Given the description of an element on the screen output the (x, y) to click on. 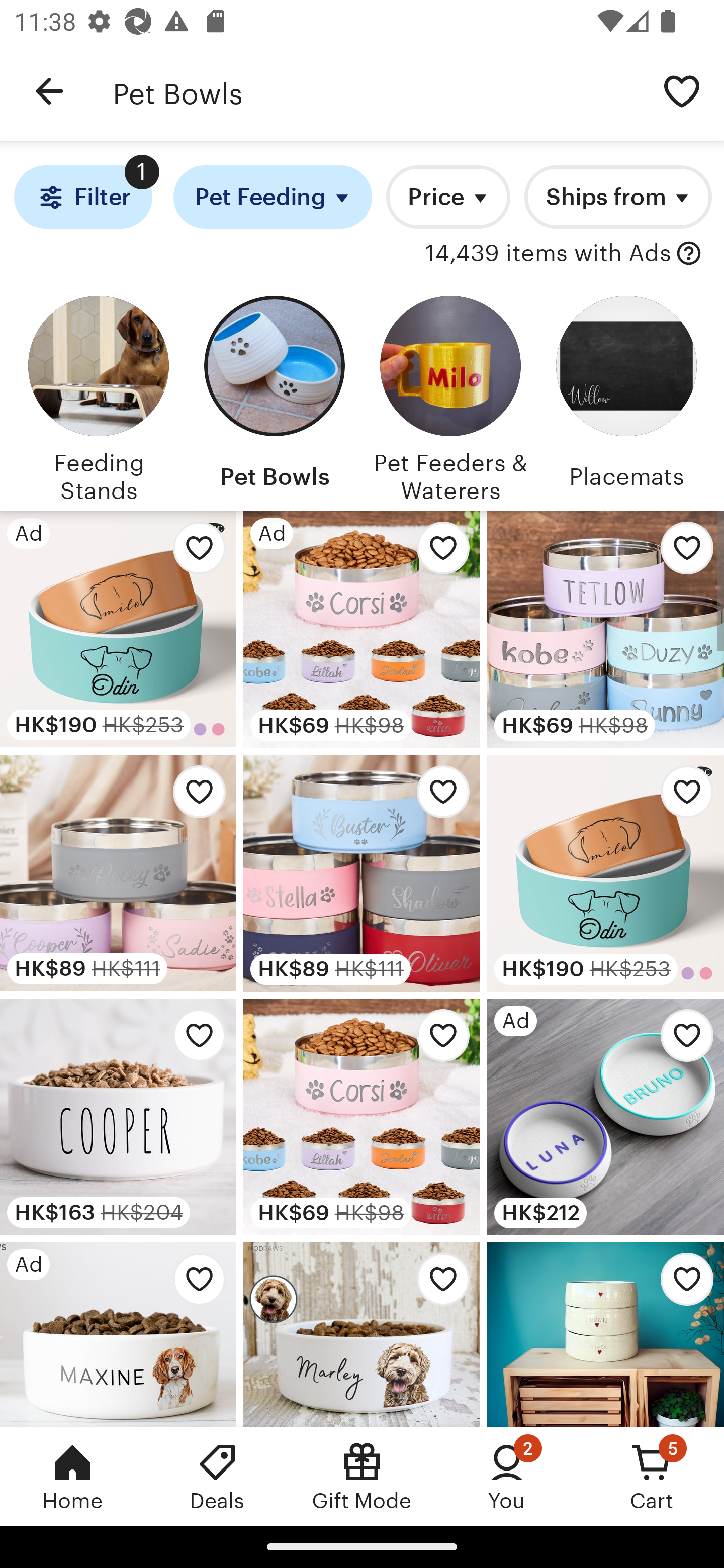
Navigate up (49, 91)
Save search (681, 90)
Pet Bowls (375, 91)
Filter (82, 197)
Pet Feeding (272, 197)
Price (447, 197)
Ships from (617, 197)
14,439 items with Ads (548, 253)
with Ads (688, 253)
Feeding Stands (97, 395)
Pet Bowls (273, 395)
Pet Feeders & Waterers (449, 395)
Placemats (625, 395)
Deals (216, 1475)
Gift Mode (361, 1475)
You, 2 new notifications You (506, 1475)
Cart, 5 new notifications Cart (651, 1475)
